Given the description of an element on the screen output the (x, y) to click on. 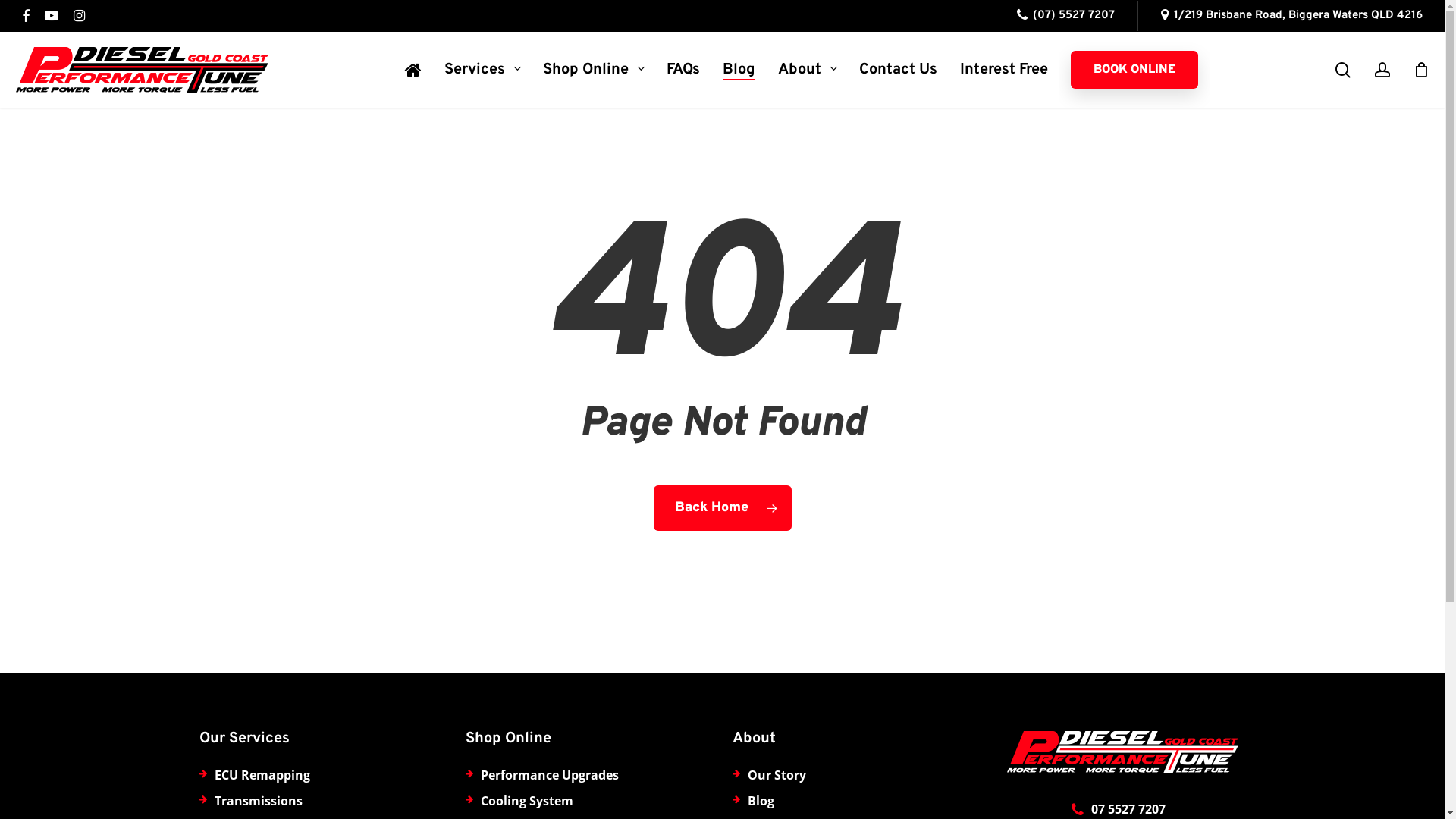
07 5527 7207 Element type: text (1128, 808)
BOOK ONLINE Element type: text (1134, 69)
Performance Upgrades Element type: text (549, 774)
Blog Element type: text (738, 69)
(07) 5527 7207 Element type: text (1065, 15)
Interest Free Element type: text (1004, 69)
1/219 Brisbane Road, Biggera Waters QLD 4216 Element type: text (1291, 15)
Cooling System Element type: text (526, 800)
account Element type: text (1382, 70)
instagram Element type: text (78, 15)
FAQs Element type: text (682, 69)
Services Element type: text (482, 69)
ECU Remapping Element type: text (261, 774)
Blog Element type: text (760, 800)
About Element type: text (807, 69)
Shop Online Element type: text (592, 69)
Our Story Element type: text (776, 774)
Back Home Element type: text (722, 507)
search Element type: text (1342, 70)
facebook Element type: text (25, 15)
youtube Element type: text (51, 15)
Transmissions Element type: text (257, 800)
Contact Us Element type: text (898, 69)
